Given the description of an element on the screen output the (x, y) to click on. 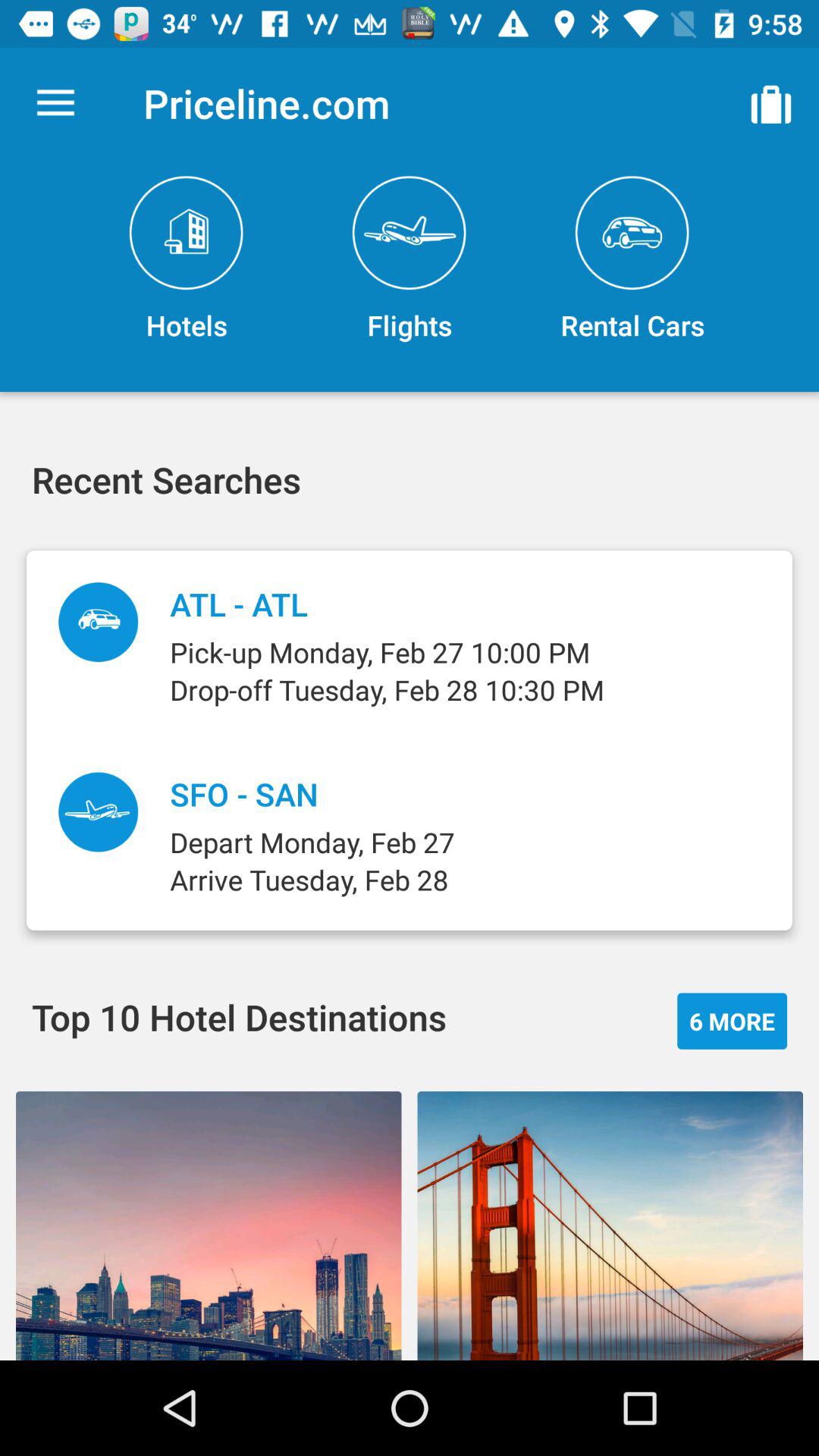
click the icon next to flights (631, 259)
